Given the description of an element on the screen output the (x, y) to click on. 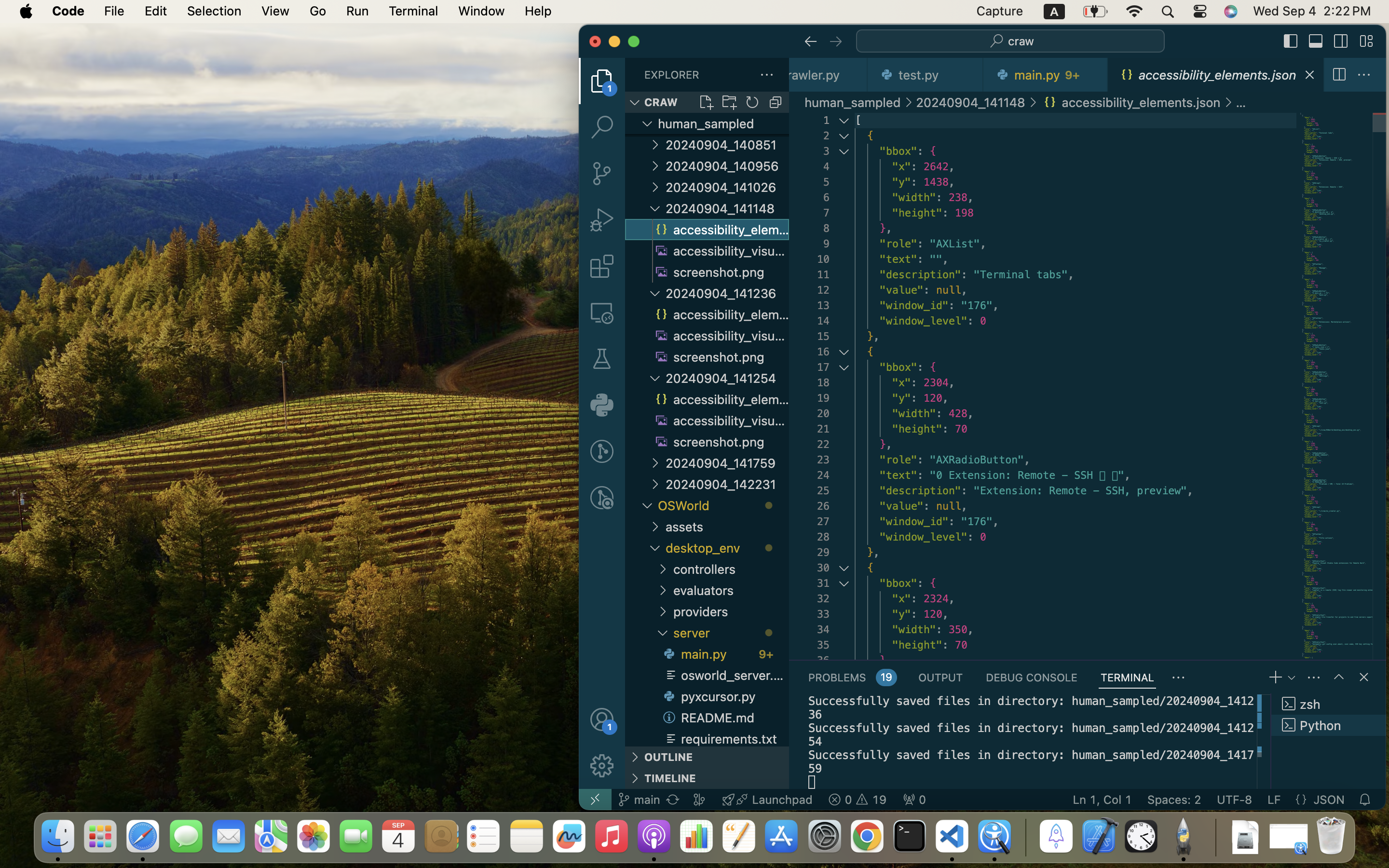
20240904_140851 Element type: AXGroup (727, 144)
main  Element type: AXButton (638, 799)
0  Element type: AXRadioButton (601, 173)
 Element type: AXStaticText (1363, 74)
README.md  Element type: AXGroup (724, 717)
